Given the description of an element on the screen output the (x, y) to click on. 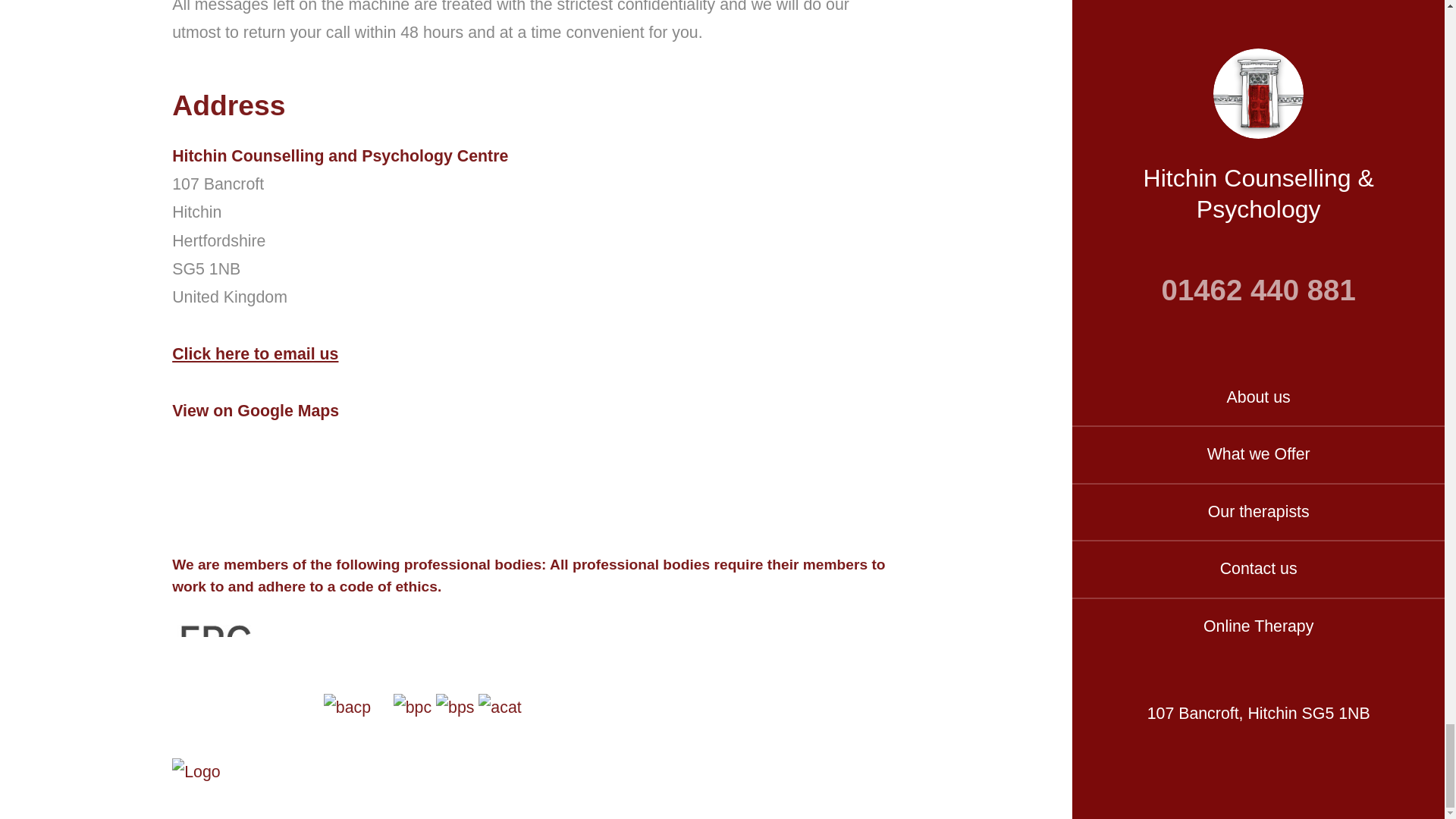
View on Google Maps (255, 410)
Click here to email us (254, 353)
Hitchin Counselling and Psychology Centre (535, 156)
